Given the description of an element on the screen output the (x, y) to click on. 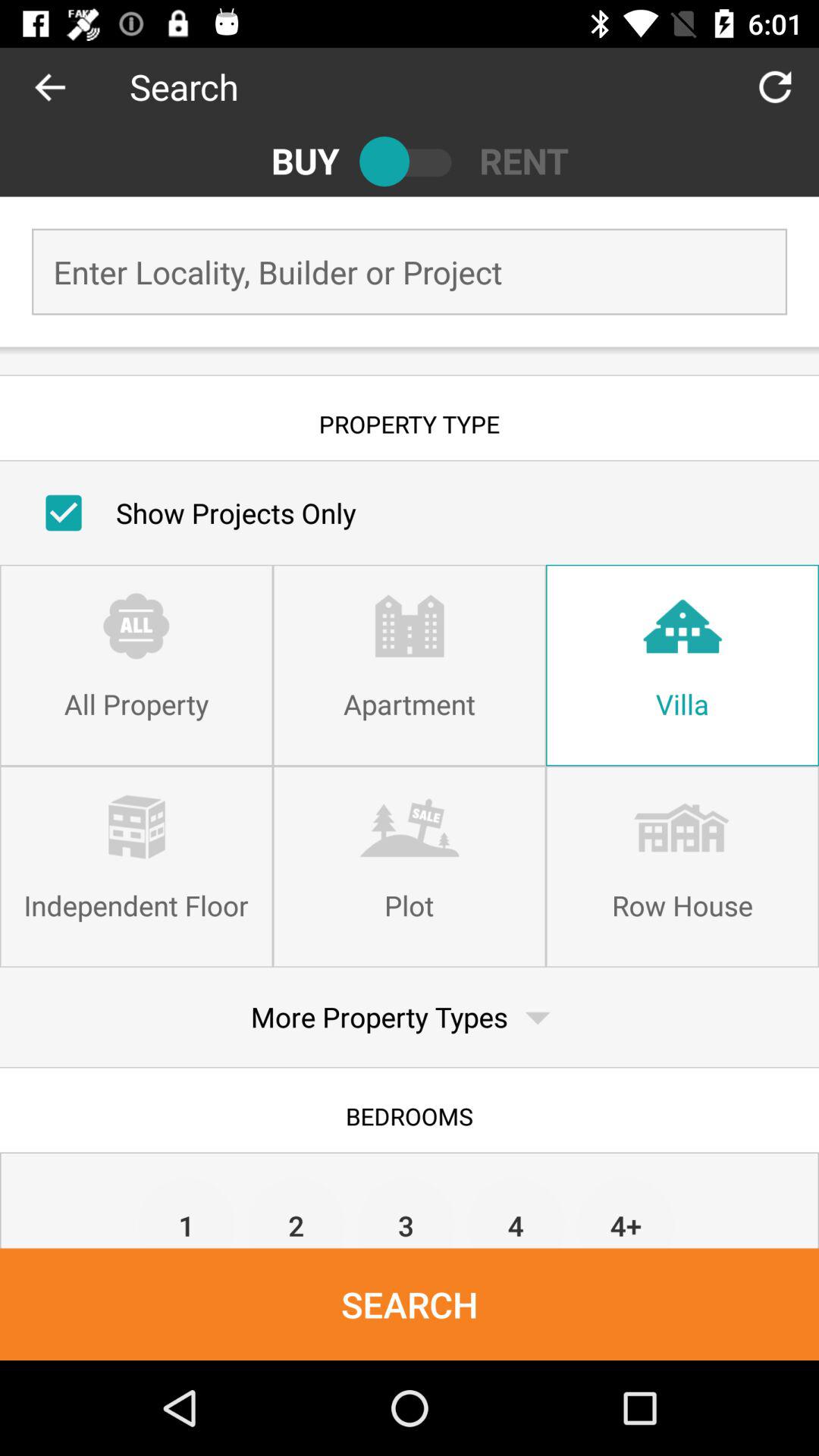
go back (64, 86)
